Given the description of an element on the screen output the (x, y) to click on. 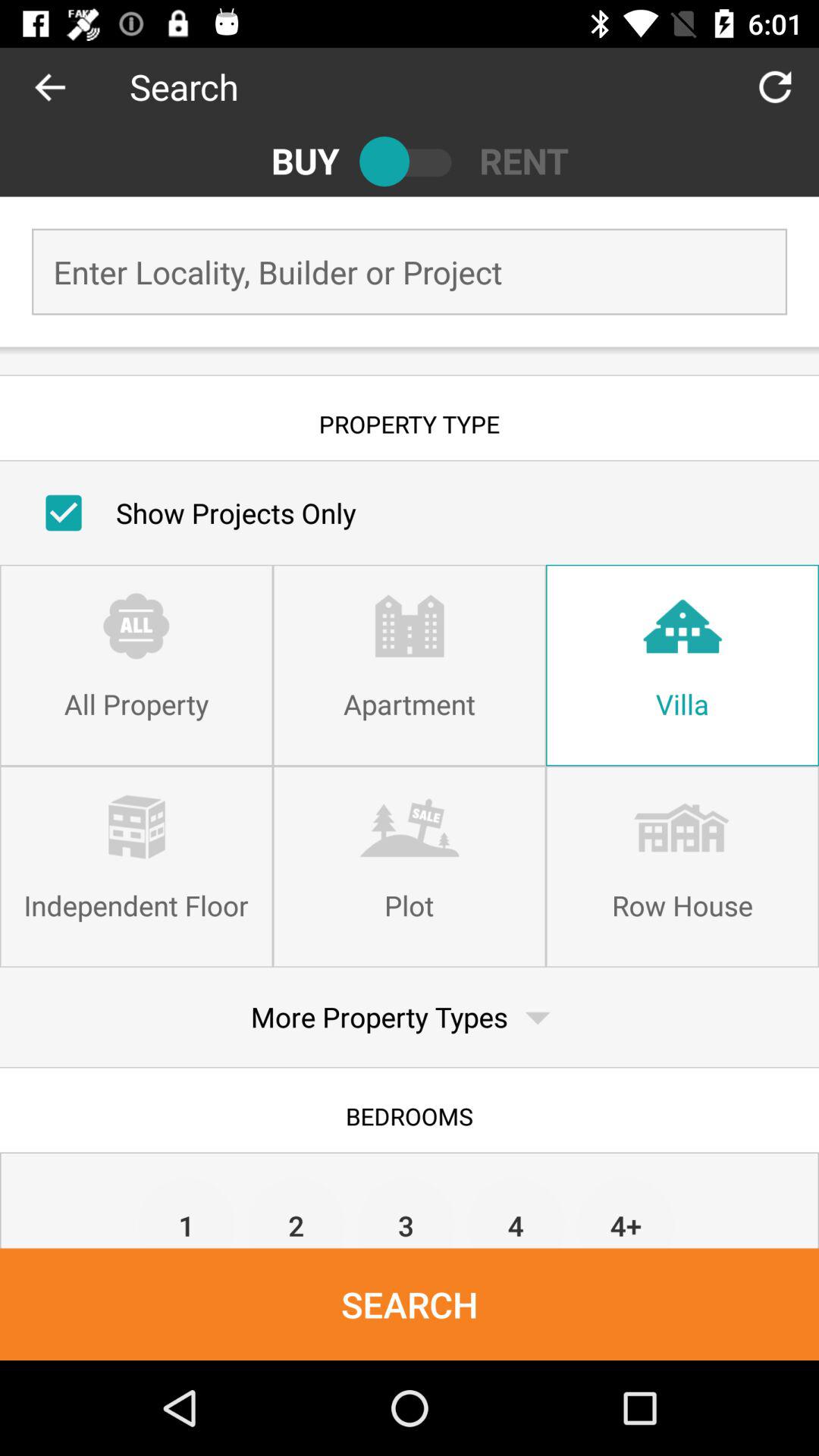
go back (64, 86)
